Given the description of an element on the screen output the (x, y) to click on. 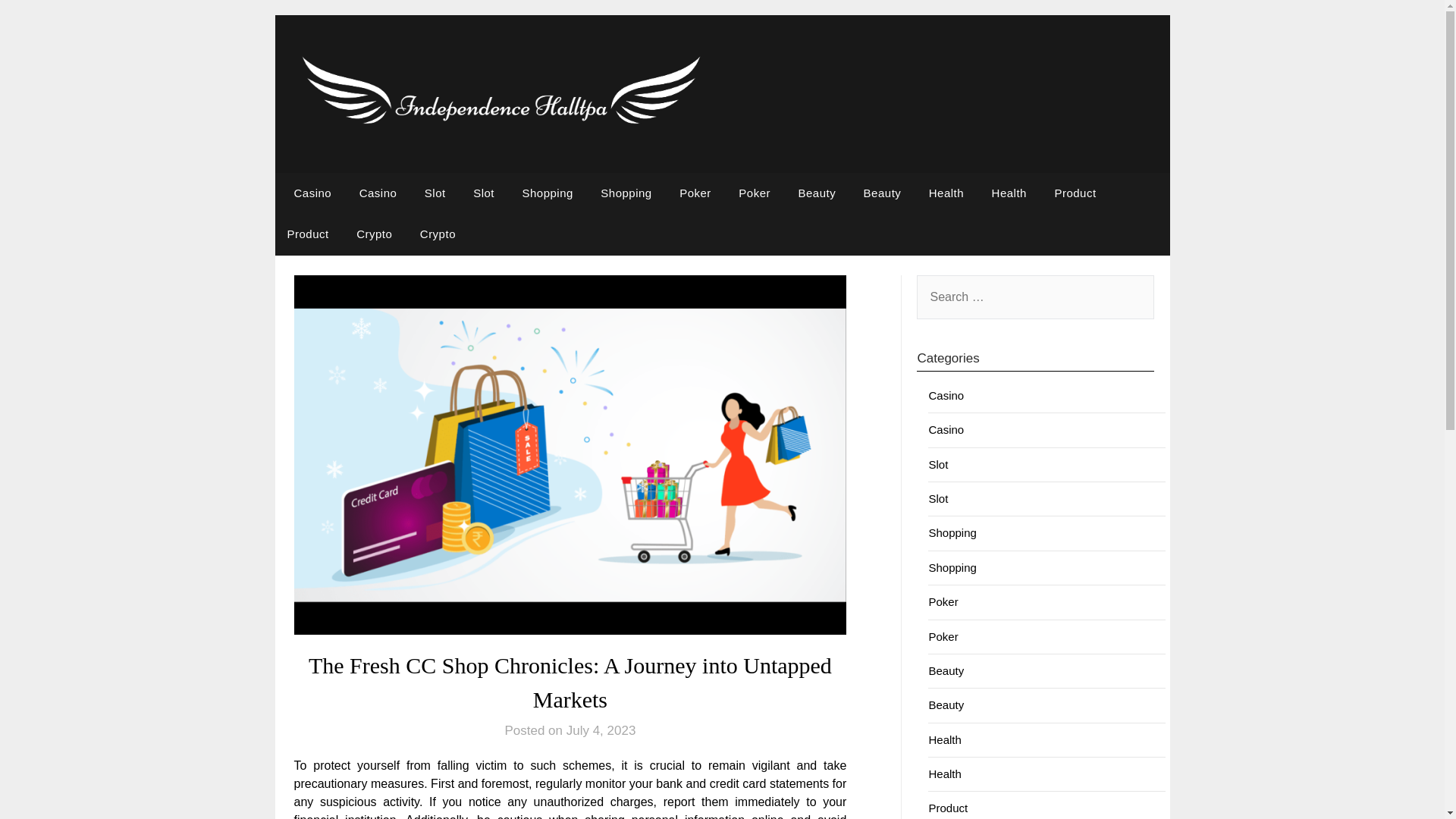
Slot (937, 463)
Health (1009, 192)
Health (944, 739)
Casino (378, 192)
Crypto (437, 233)
Beauty (945, 704)
Search (38, 22)
Slot (435, 192)
Slot (483, 192)
Product (307, 233)
